Given the description of an element on the screen output the (x, y) to click on. 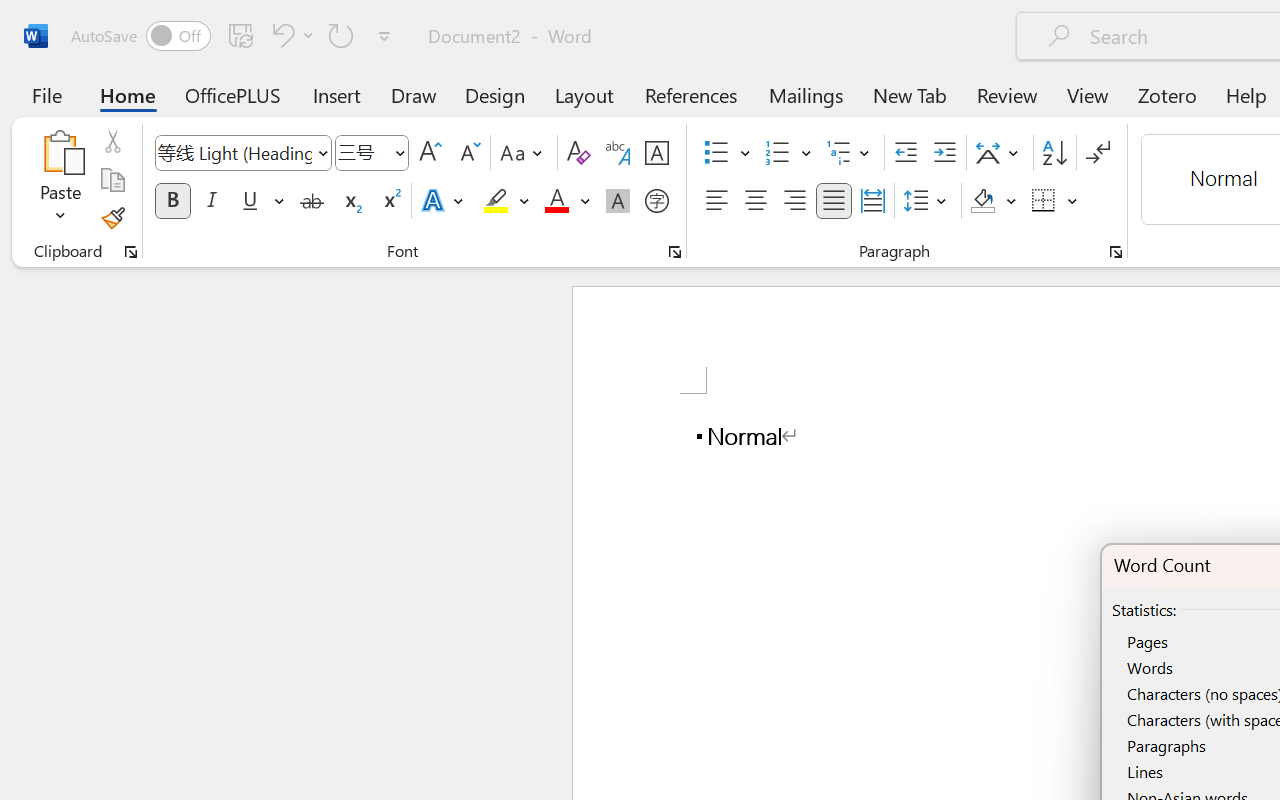
Font Size (362, 152)
Text Effects and Typography (444, 201)
Font Color (567, 201)
New Tab (909, 94)
Home (127, 94)
Office Clipboard... (131, 252)
References (690, 94)
Shrink Font (468, 153)
Mailings (806, 94)
Draw (413, 94)
Undo Typing (290, 35)
Show/Hide Editing Marks (1098, 153)
Underline (250, 201)
Align Right (794, 201)
Grow Font (430, 153)
